Given the description of an element on the screen output the (x, y) to click on. 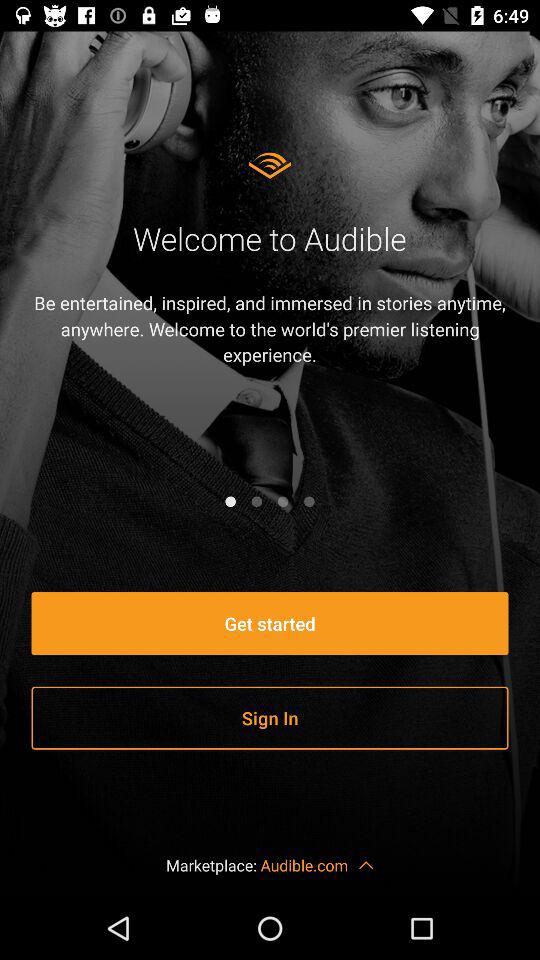
press get started item (269, 623)
